Given the description of an element on the screen output the (x, y) to click on. 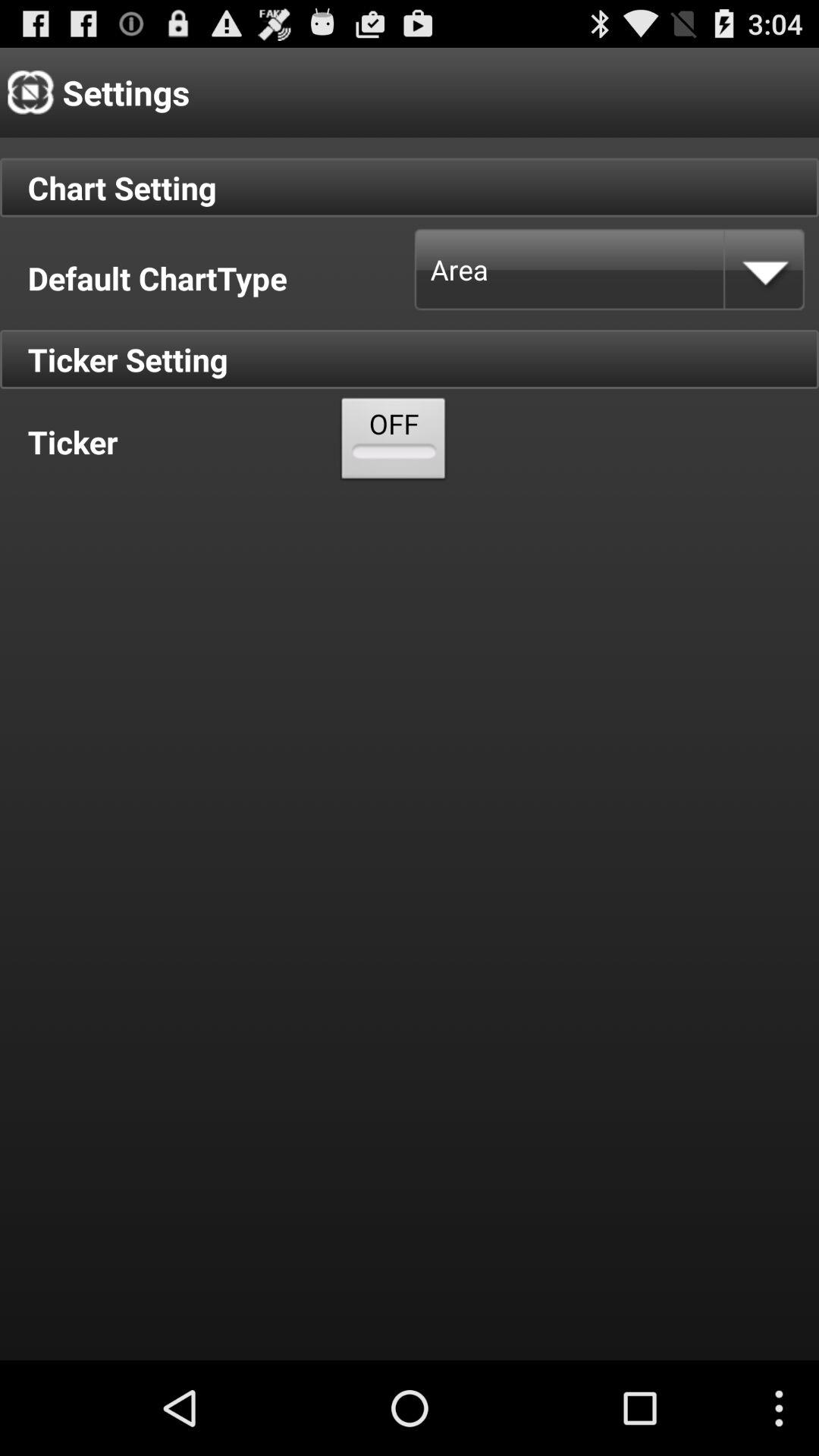
select the icon below the default charttype item (393, 441)
